Given the description of an element on the screen output the (x, y) to click on. 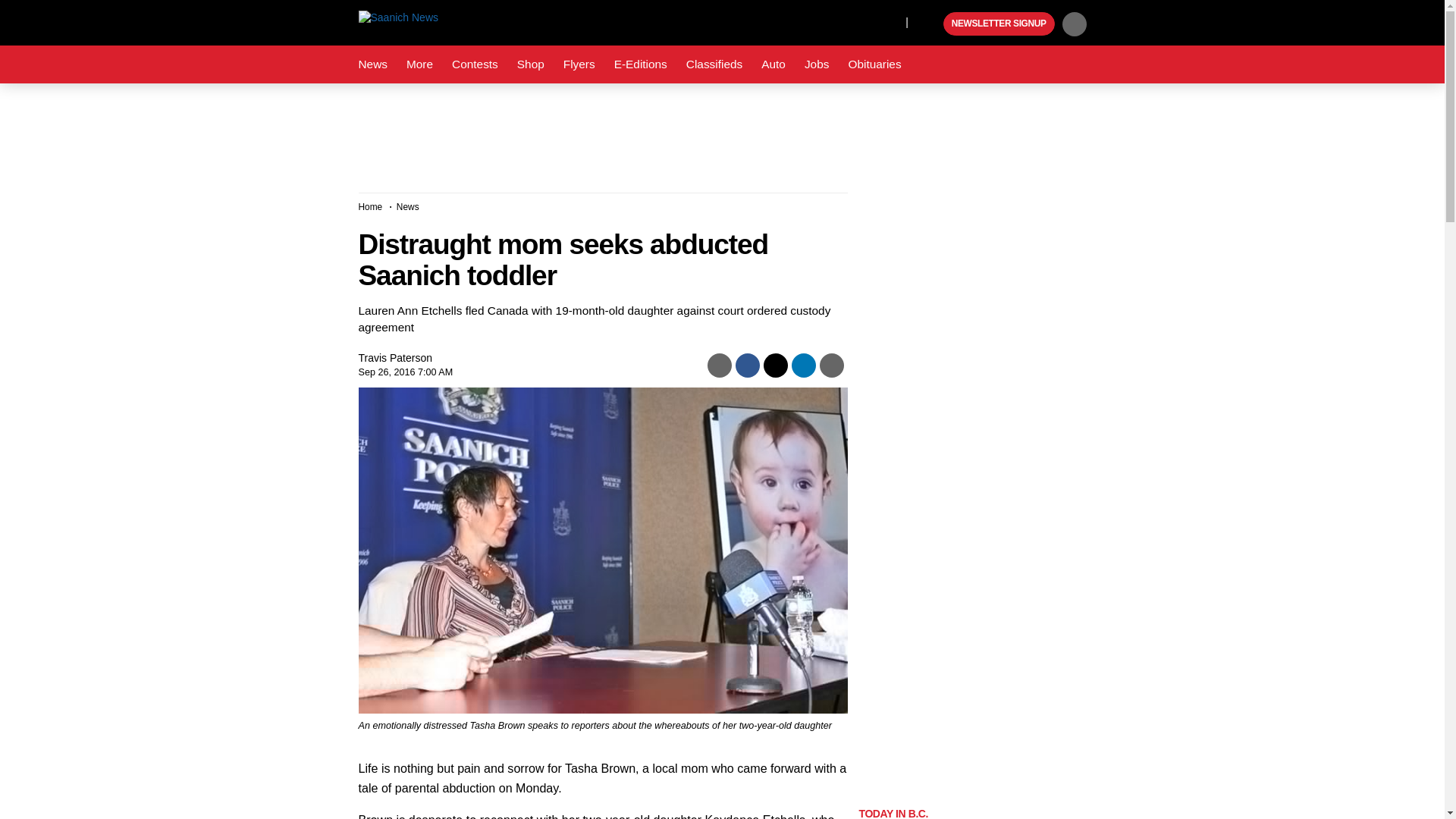
NEWSLETTER SIGNUP (998, 24)
News (372, 64)
X (889, 21)
Black Press Media (929, 24)
Play (929, 24)
